Given the description of an element on the screen output the (x, y) to click on. 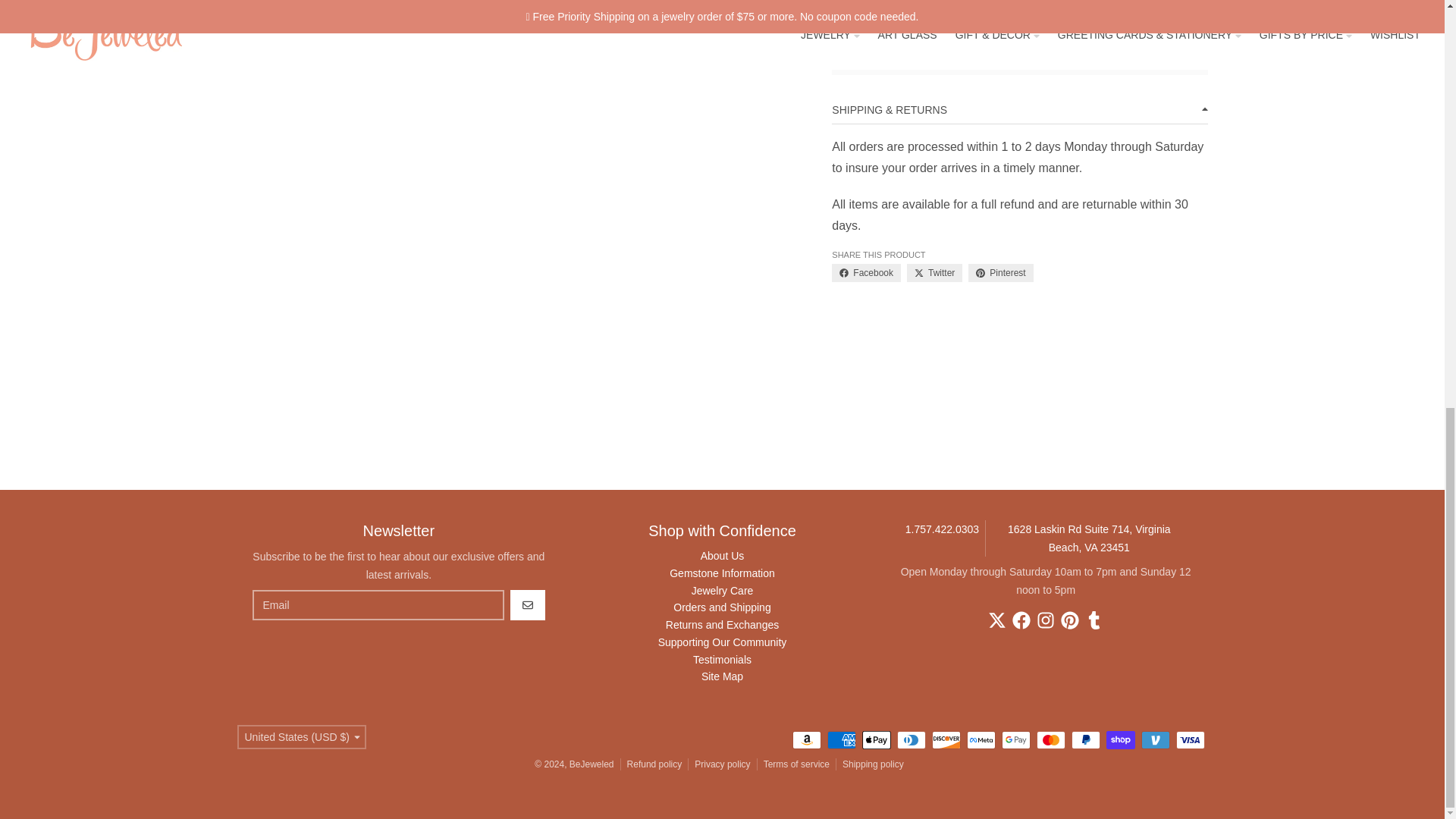
Tumblr - BeJeweled (1093, 619)
Facebook - BeJeweled (1020, 619)
1 (913, 6)
Twitter - BeJeweled (997, 619)
Instagram - BeJeweled (1045, 619)
Pinterest - BeJeweled (1069, 619)
